Given the description of an element on the screen output the (x, y) to click on. 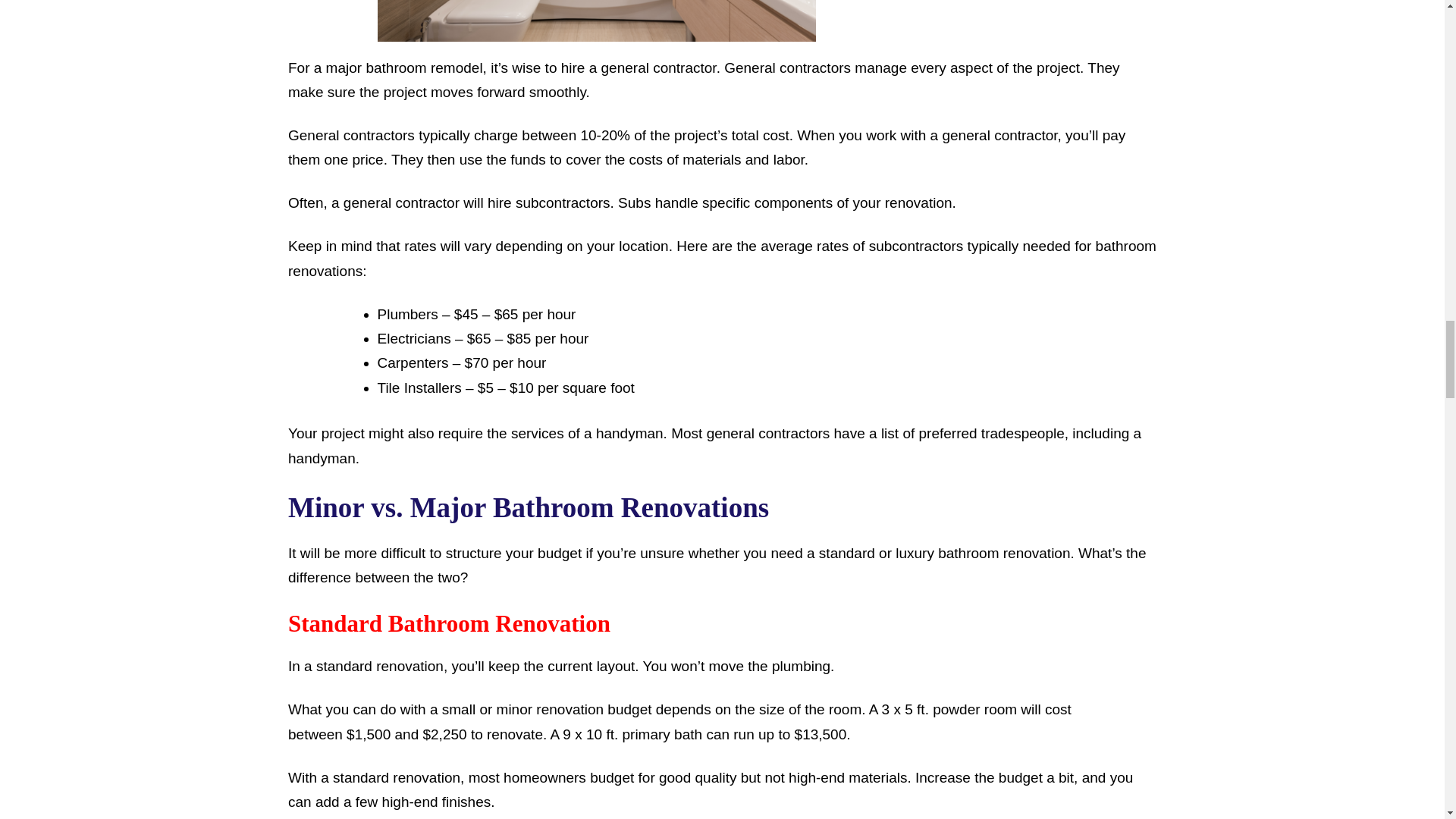
Bathtubs (596, 20)
